Given the description of an element on the screen output the (x, y) to click on. 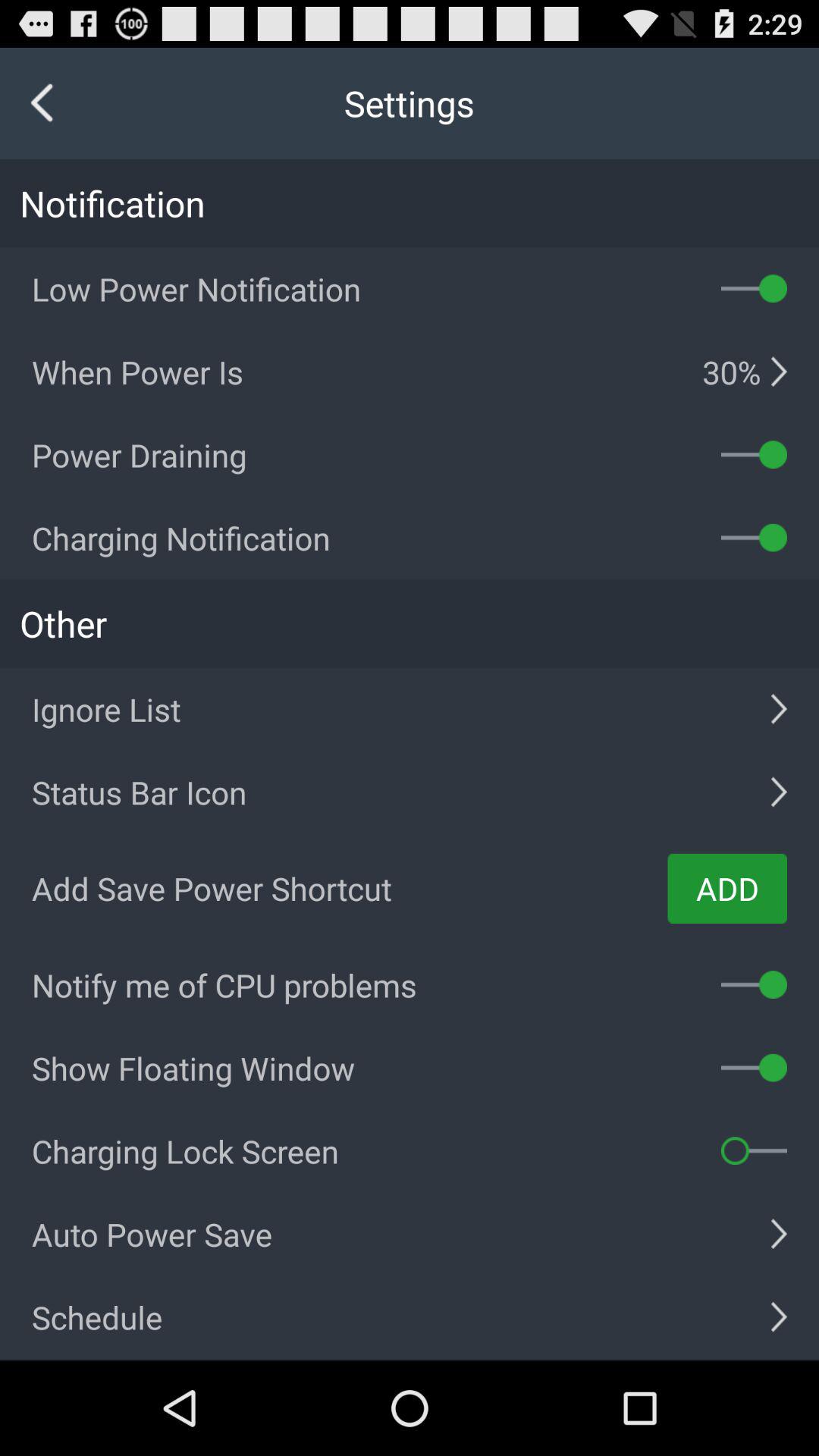
turn off the app above notification icon (42, 103)
